Given the description of an element on the screen output the (x, y) to click on. 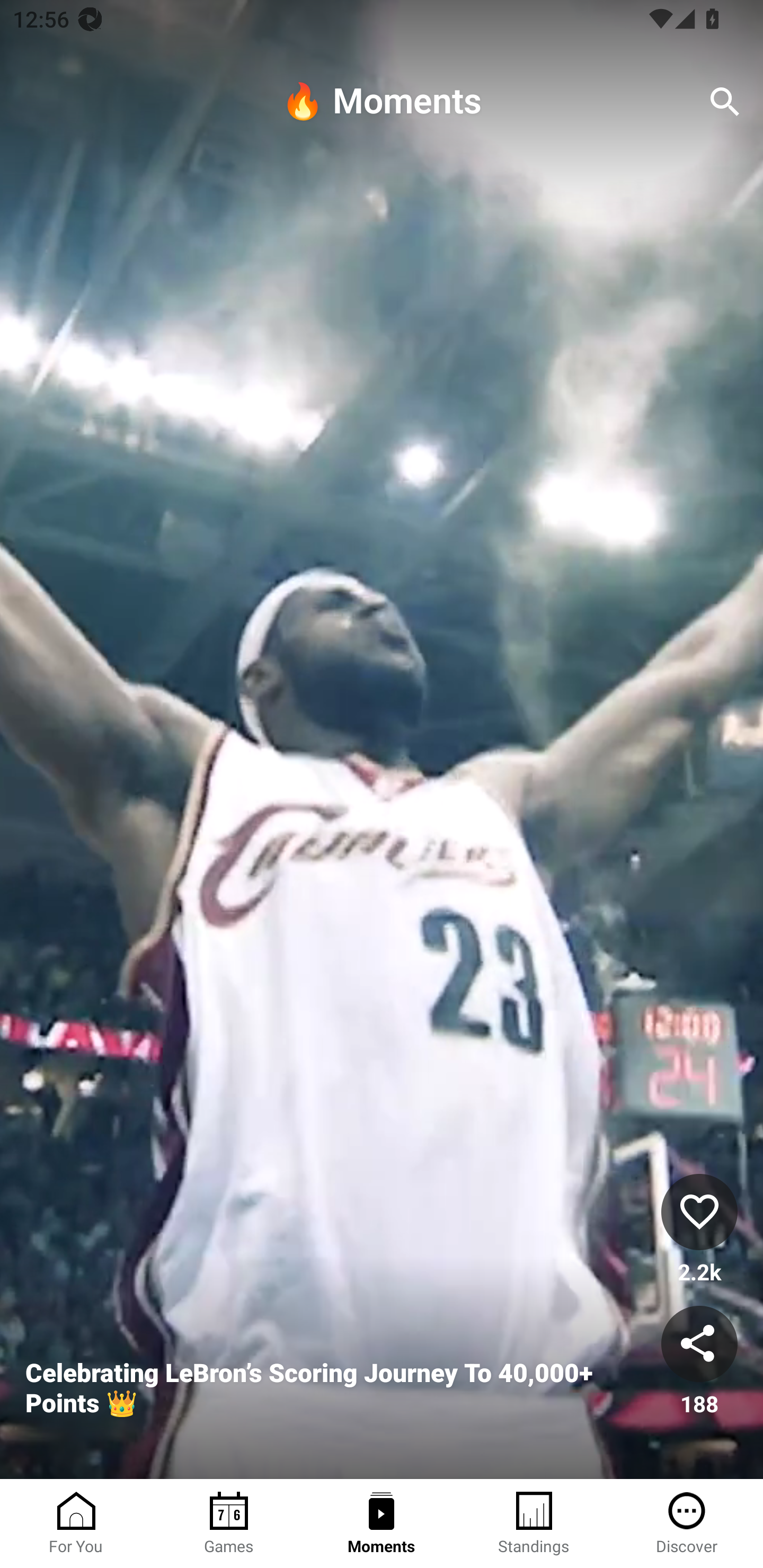
search (724, 101)
like 2.2k 2154 Likes (699, 1230)
share 188 188 Shares (699, 1362)
For You (76, 1523)
Games (228, 1523)
Standings (533, 1523)
Discover (686, 1523)
